Given the description of an element on the screen output the (x, y) to click on. 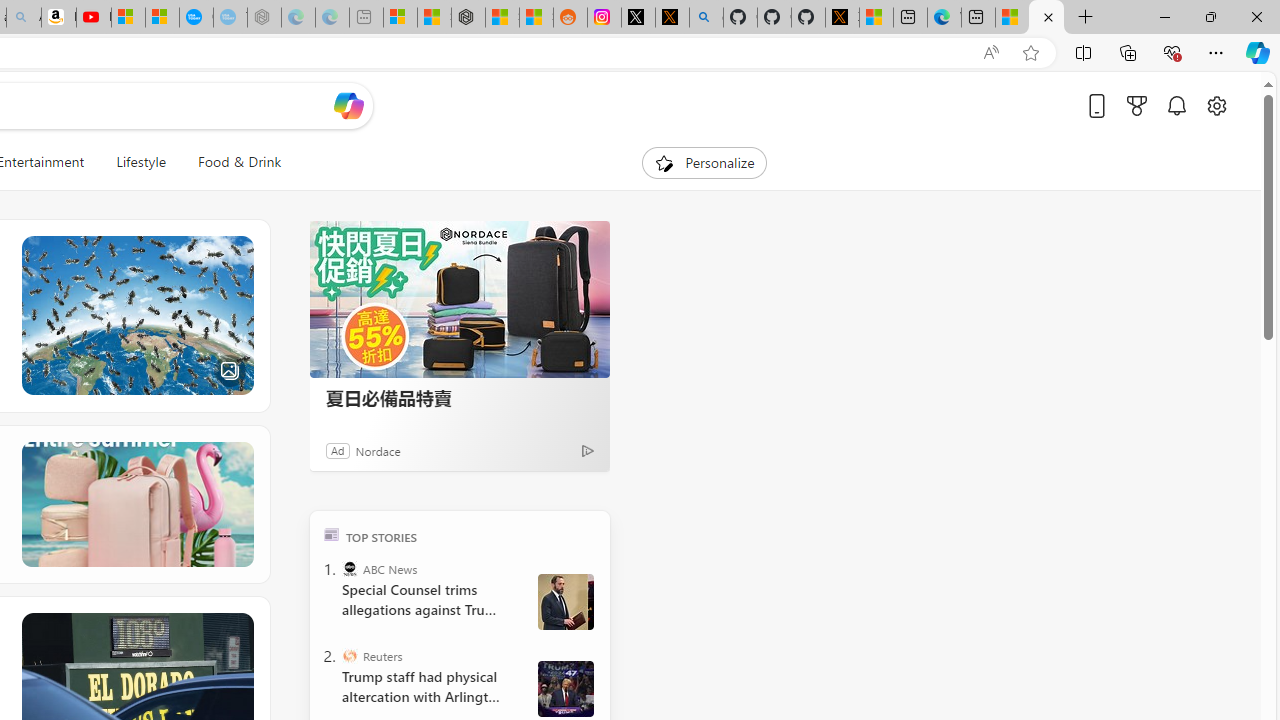
Microsoft rewards (1137, 105)
Opinion: Op-Ed and Commentary - USA TODAY (196, 17)
ABC News (349, 568)
github - Search (706, 17)
Reuters (349, 655)
Personalize (703, 162)
